Given the description of an element on the screen output the (x, y) to click on. 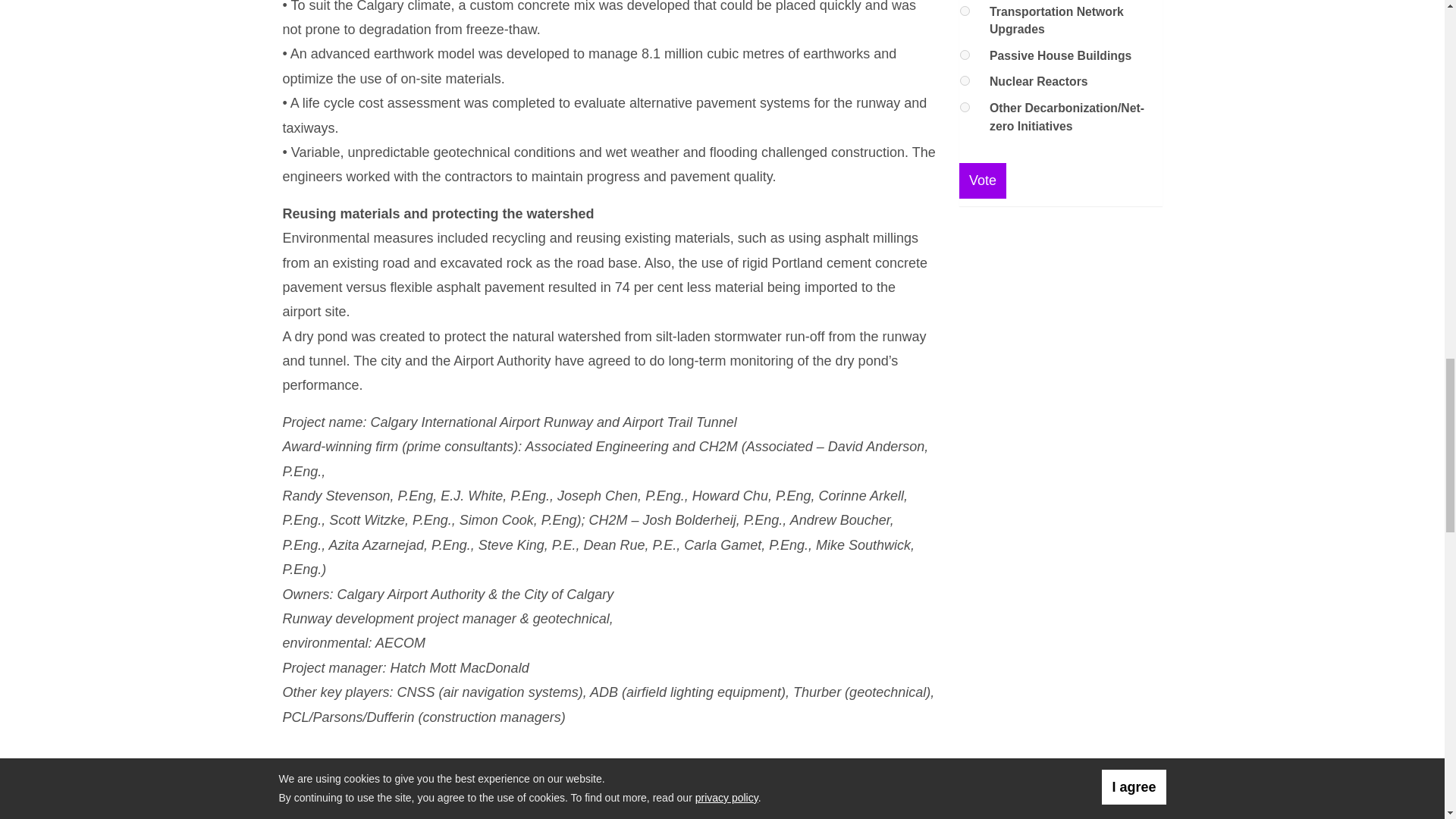
Passive House Buildings (964, 54)
Transportation Network Upgrades (964, 10)
Vote (982, 180)
Nuclear Reactors (964, 80)
